Given the description of an element on the screen output the (x, y) to click on. 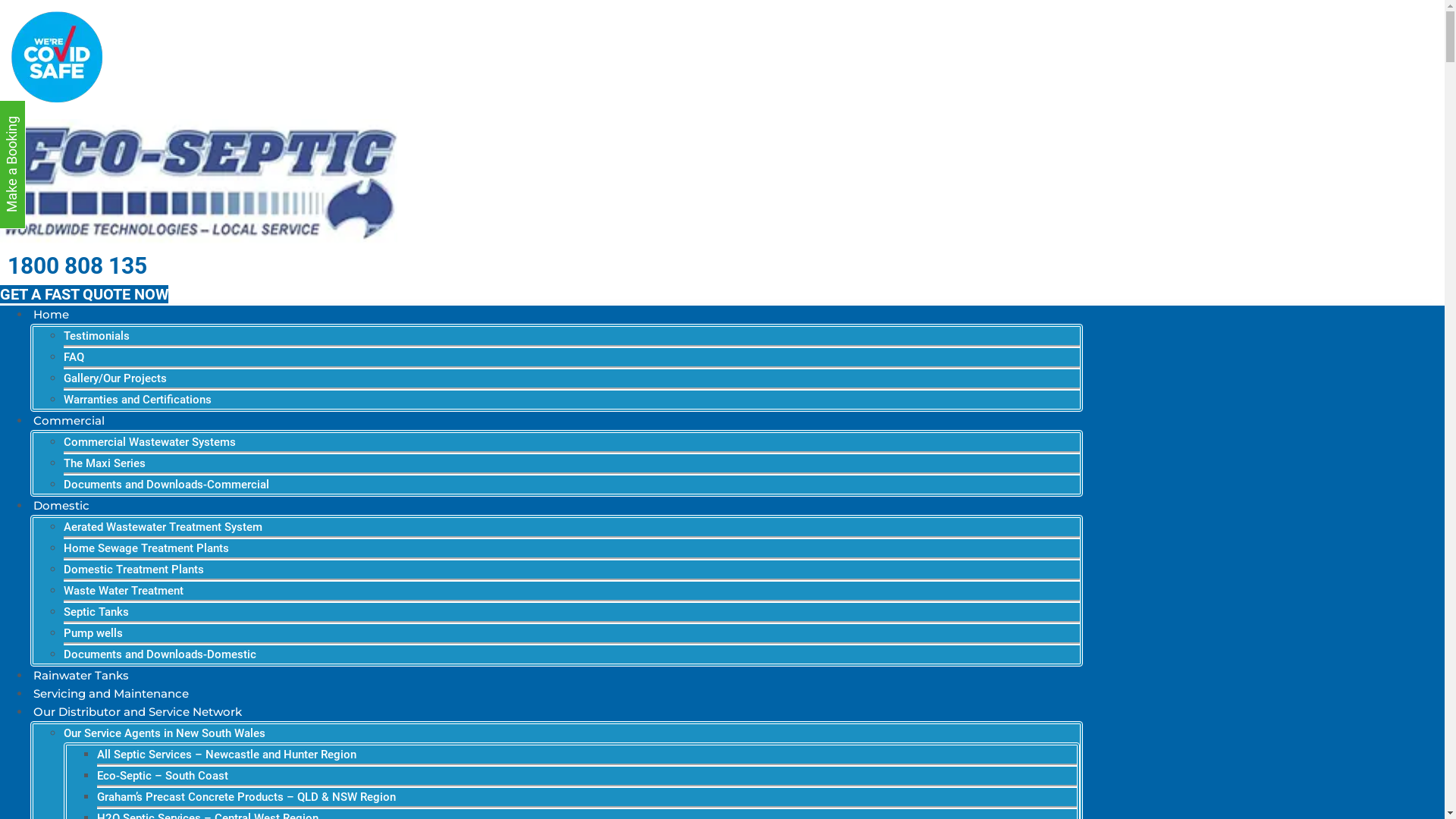
Rainwater Tanks Element type: text (80, 675)
The Maxi Series Element type: text (104, 463)
Testimonials Element type: text (96, 335)
Domestic Element type: text (61, 505)
Waste Water Treatment Element type: text (123, 590)
Gallery/Our Projects Element type: text (114, 378)
Commercial Element type: text (68, 420)
Septic Tanks Element type: text (95, 611)
GET A FAST QUOTE NOW Element type: text (84, 294)
Servicing and Maintenance Element type: text (110, 693)
Domestic Treatment Plants Element type: text (133, 569)
FAQ Element type: text (73, 357)
Our Distributor and Service Network Element type: text (137, 711)
Home Sewage Treatment Plants Element type: text (146, 548)
Pump wells Element type: text (92, 633)
Documents and Downloads-Domestic Element type: text (159, 654)
Our Service Agents in New South Wales Element type: text (164, 733)
Warranties and Certifications Element type: text (137, 399)
1800 808 135 Element type: text (73, 265)
Commercial Wastewater Systems Element type: text (149, 441)
Documents and Downloads-Commercial Element type: text (166, 484)
Aerated Wastewater Treatment System Element type: text (162, 526)
Home Element type: text (51, 314)
